Given the description of an element on the screen output the (x, y) to click on. 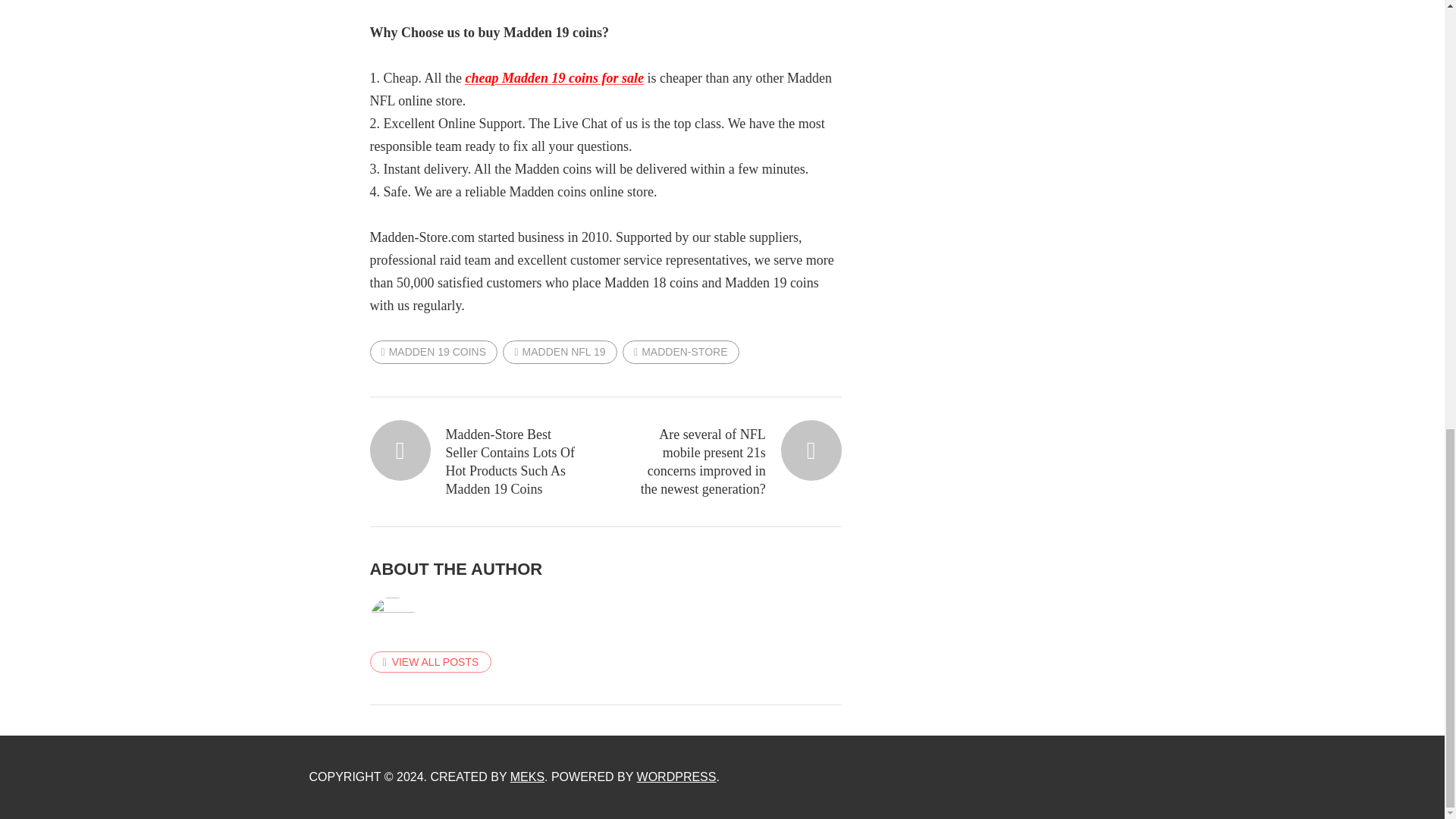
MADDEN-STORE (680, 351)
MEKS (527, 776)
MADDEN 19 COINS (433, 351)
VIEW ALL POSTS (430, 661)
MADDEN NFL 19 (558, 351)
WORDPRESS (676, 776)
cheap Madden 19 coins for sale (553, 77)
